Given the description of an element on the screen output the (x, y) to click on. 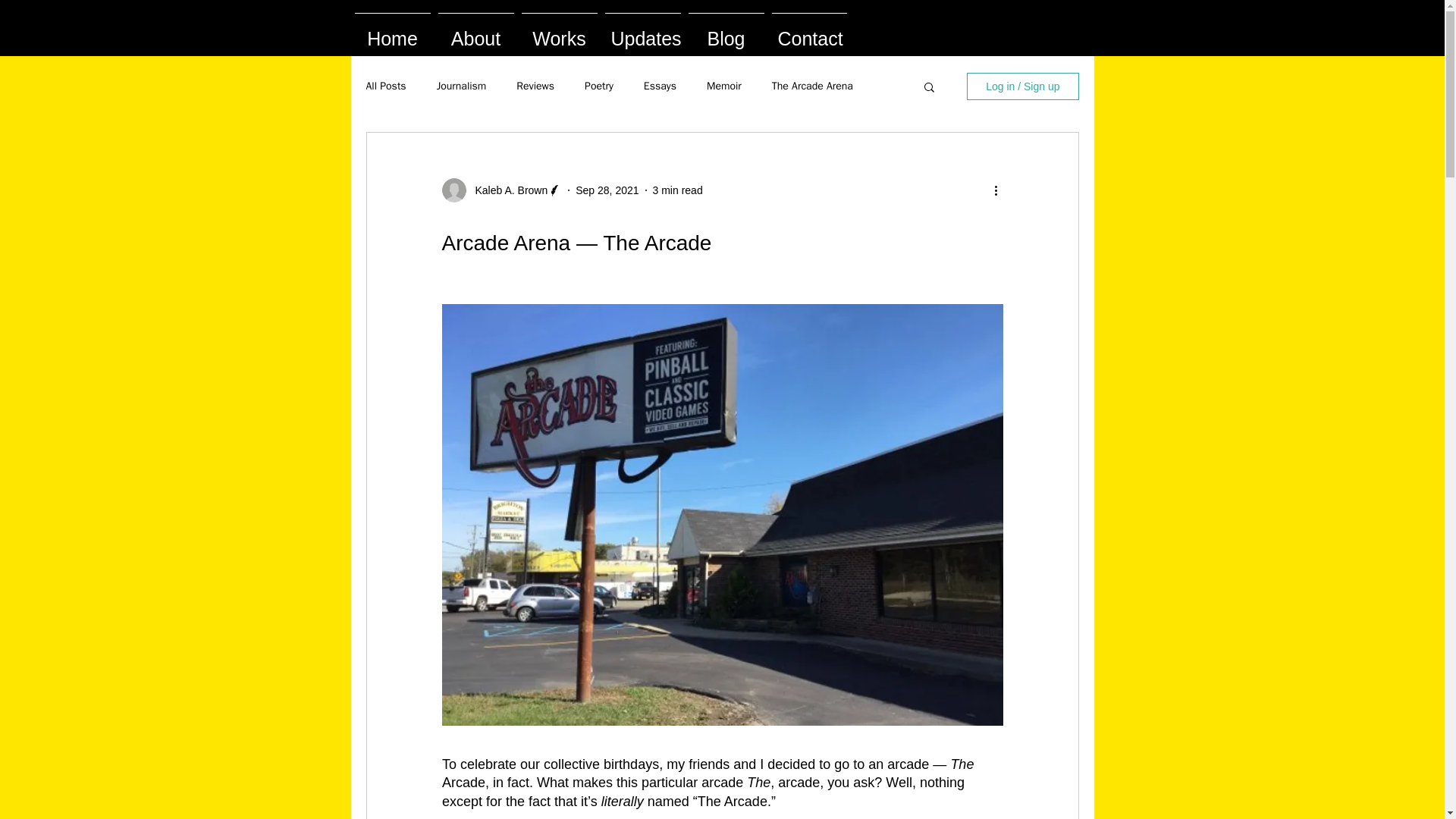
Works (557, 31)
About (474, 31)
All Posts (385, 86)
Updates (641, 31)
Sep 28, 2021 (607, 189)
Reviews (535, 86)
The Arcade Arena (812, 86)
Poetry (598, 86)
Home (391, 31)
Journalism (461, 86)
